Given the description of an element on the screen output the (x, y) to click on. 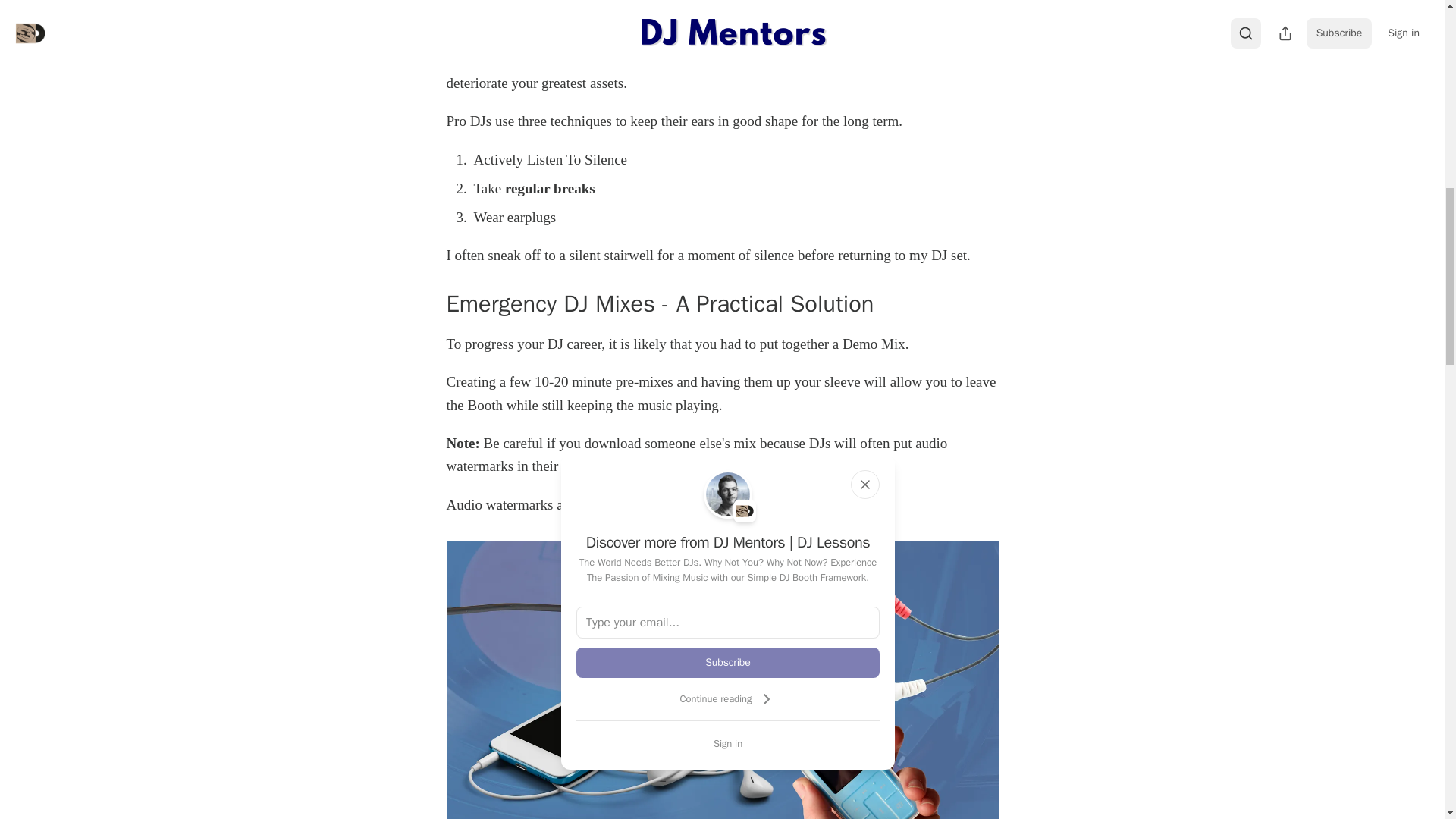
Sign in (727, 743)
Subscribe (727, 662)
